Given the description of an element on the screen output the (x, y) to click on. 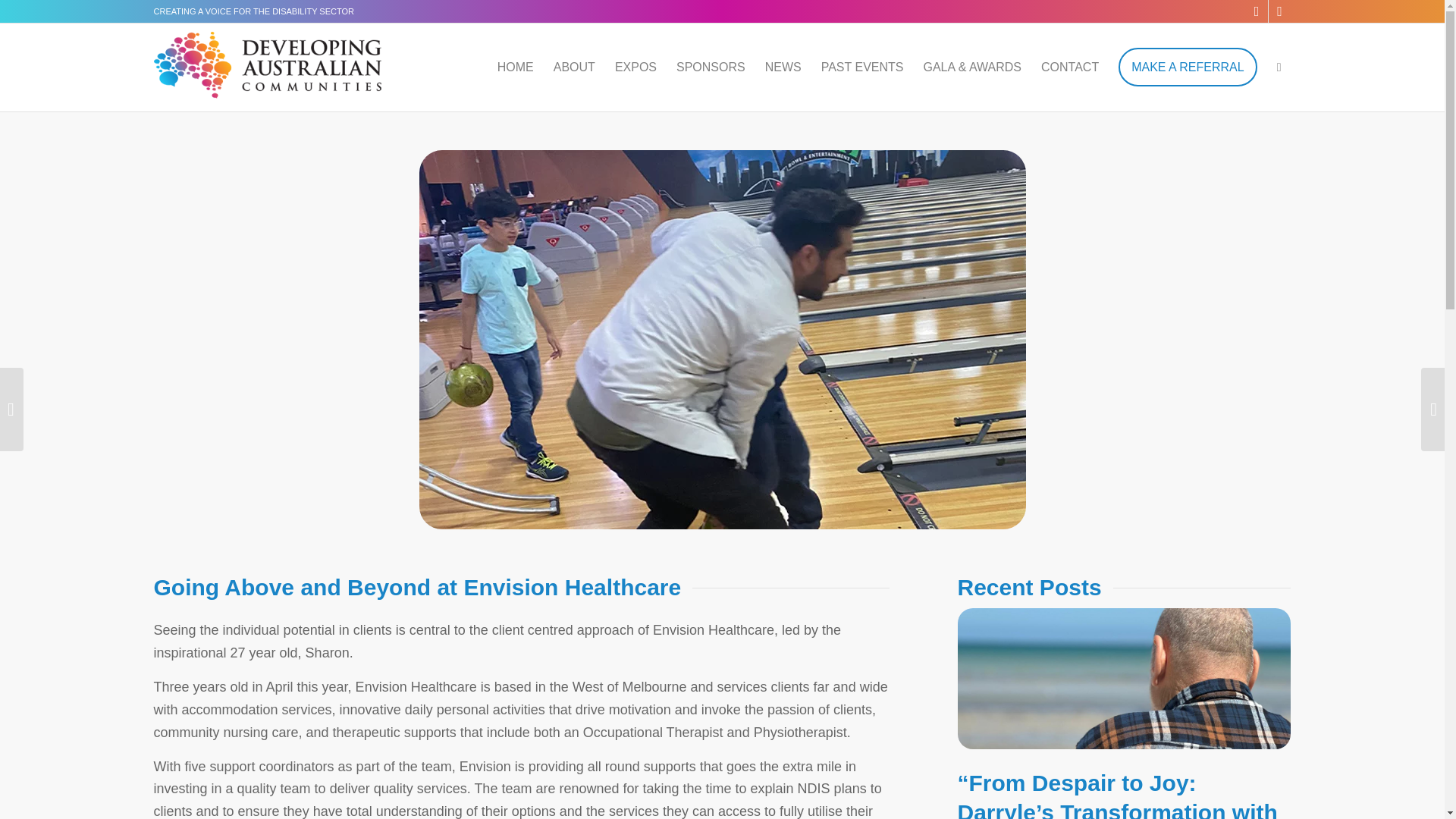
Facebook (1255, 11)
LinkedIn (1279, 11)
SPONSORS (710, 67)
PAST EVENTS (862, 67)
MAKE A REFERRAL (1187, 67)
